Given the description of an element on the screen output the (x, y) to click on. 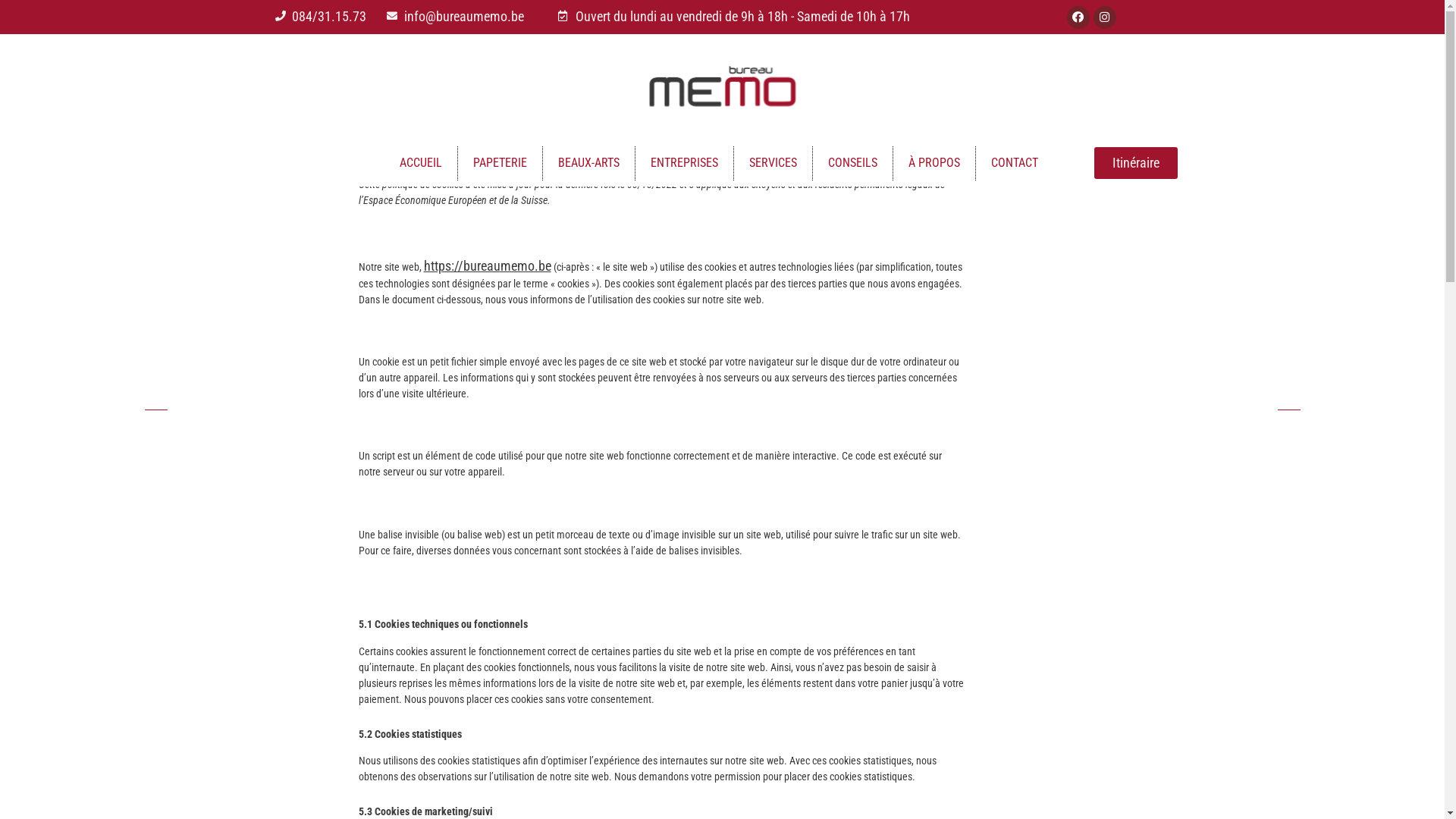
ENTREPRISES Element type: text (691, 151)
PAPETERIE Element type: text (500, 162)
CONSEILS Element type: text (829, 151)
ACCUEIL Element type: text (420, 162)
ACCUEIL Element type: text (473, 151)
CONTACT Element type: text (961, 151)
info@bureaumemo.be Element type: text (464, 16)
BEAUX-ARTS Element type: text (611, 151)
PAPETERIE Element type: text (537, 151)
SERVICES Element type: text (765, 151)
CONTACT Element type: text (1014, 162)
CONSEILS Element type: text (852, 162)
SERVICES Element type: text (773, 162)
ENTREPRISES Element type: text (684, 162)
https://bureaumemo.be Element type: text (486, 265)
BEAUX-ARTS Element type: text (588, 162)
